Given the description of an element on the screen output the (x, y) to click on. 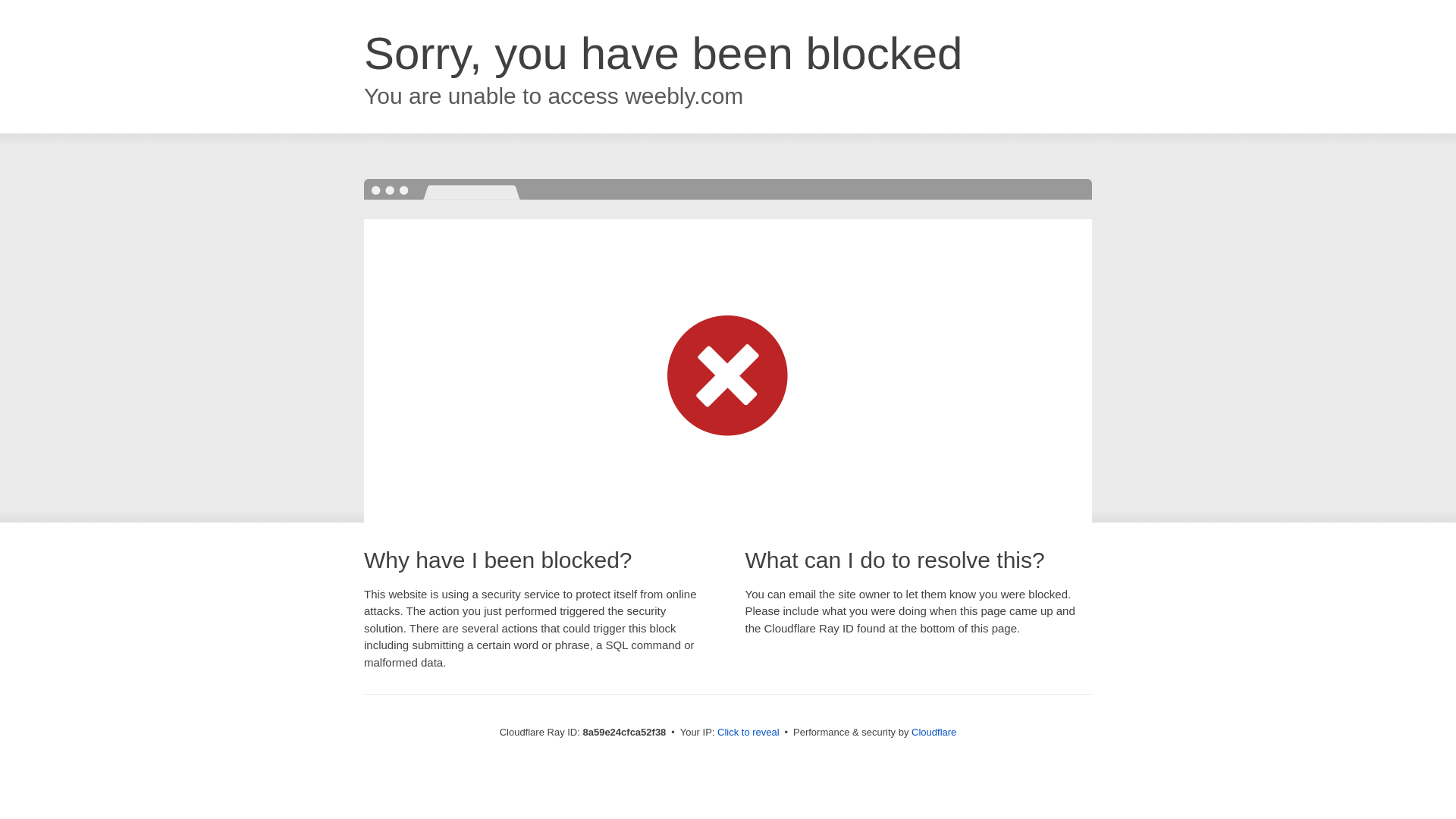
Click to reveal (747, 732)
Cloudflare (933, 731)
